Given the description of an element on the screen output the (x, y) to click on. 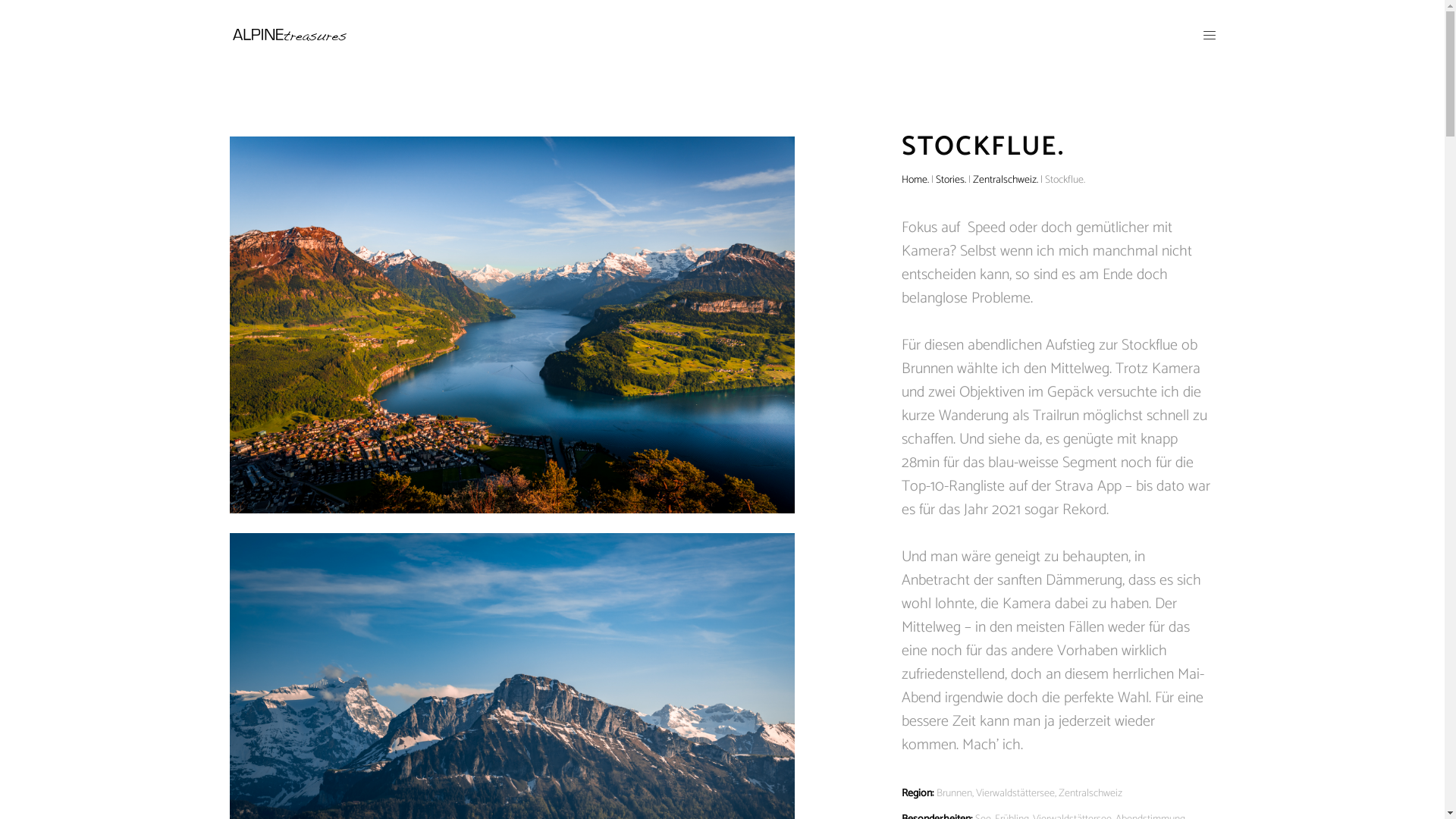
Zentralschweiz. Element type: text (1005, 179)
Stories. Element type: text (950, 179)
Home. Element type: text (914, 179)
